Given the description of an element on the screen output the (x, y) to click on. 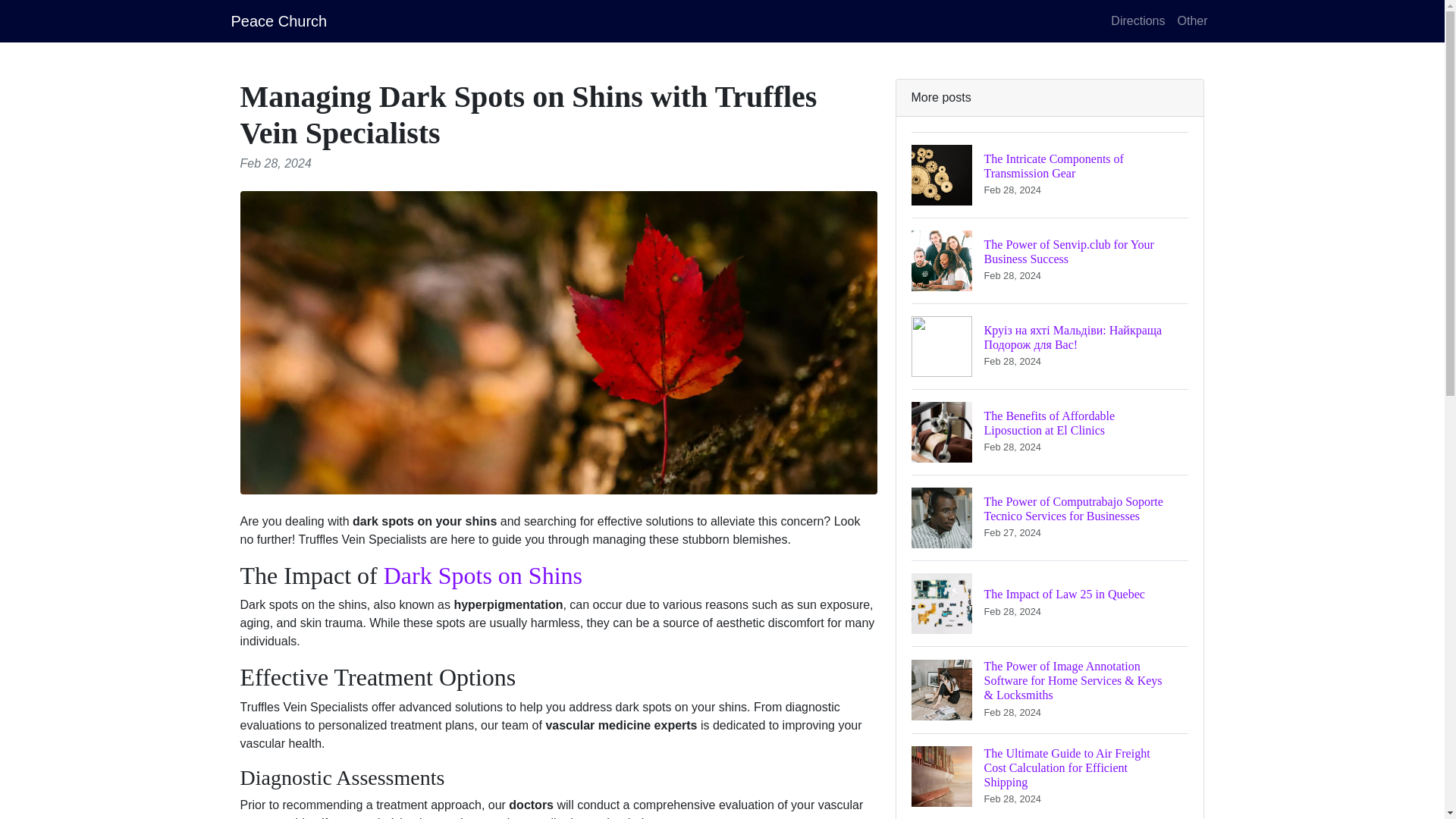
Peace Church (278, 20)
Directions (1137, 20)
Other (1191, 20)
Dark Spots on Shins (1050, 174)
